Given the description of an element on the screen output the (x, y) to click on. 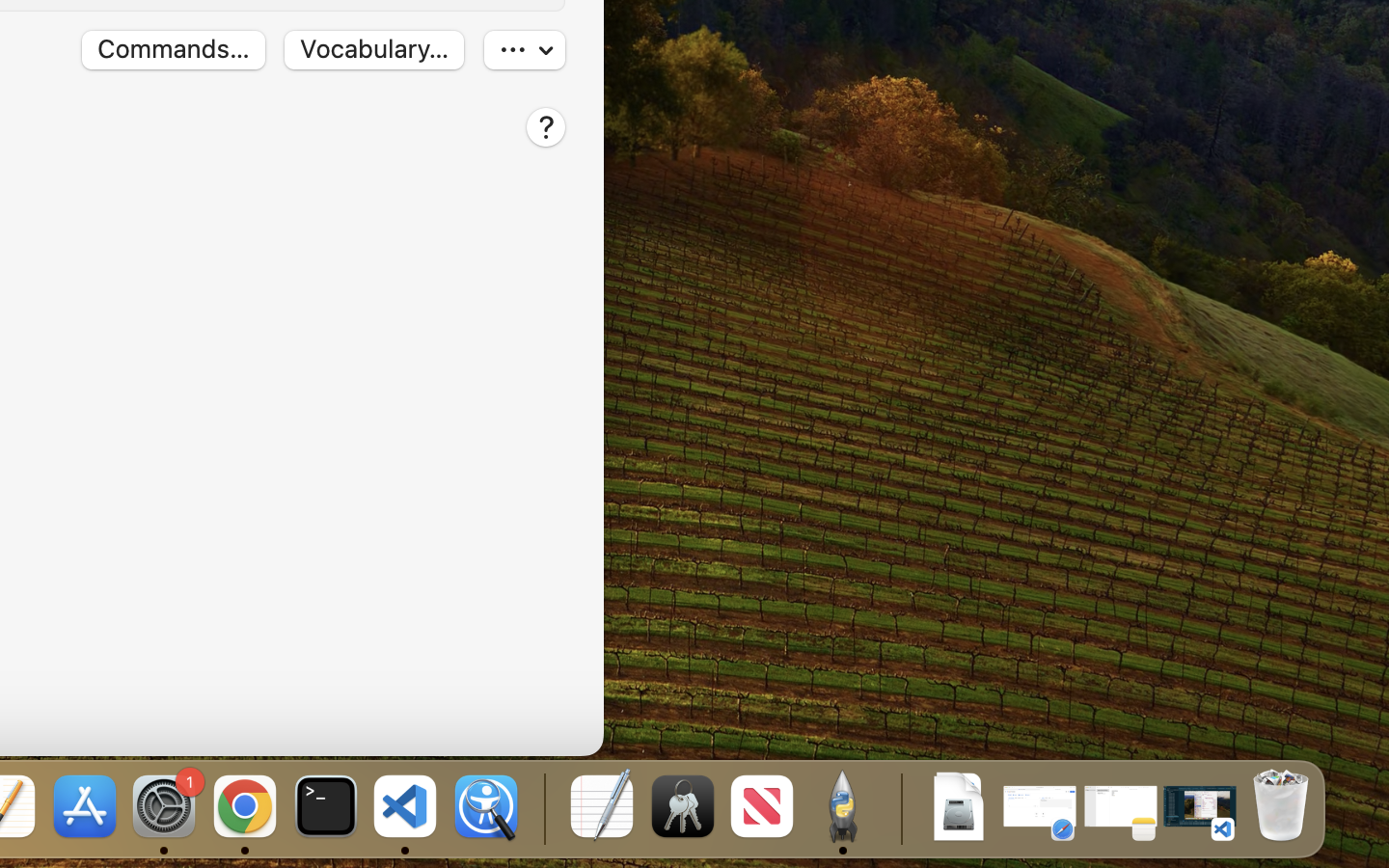
0.4285714328289032 Element type: AXDockItem (541, 807)
